Given the description of an element on the screen output the (x, y) to click on. 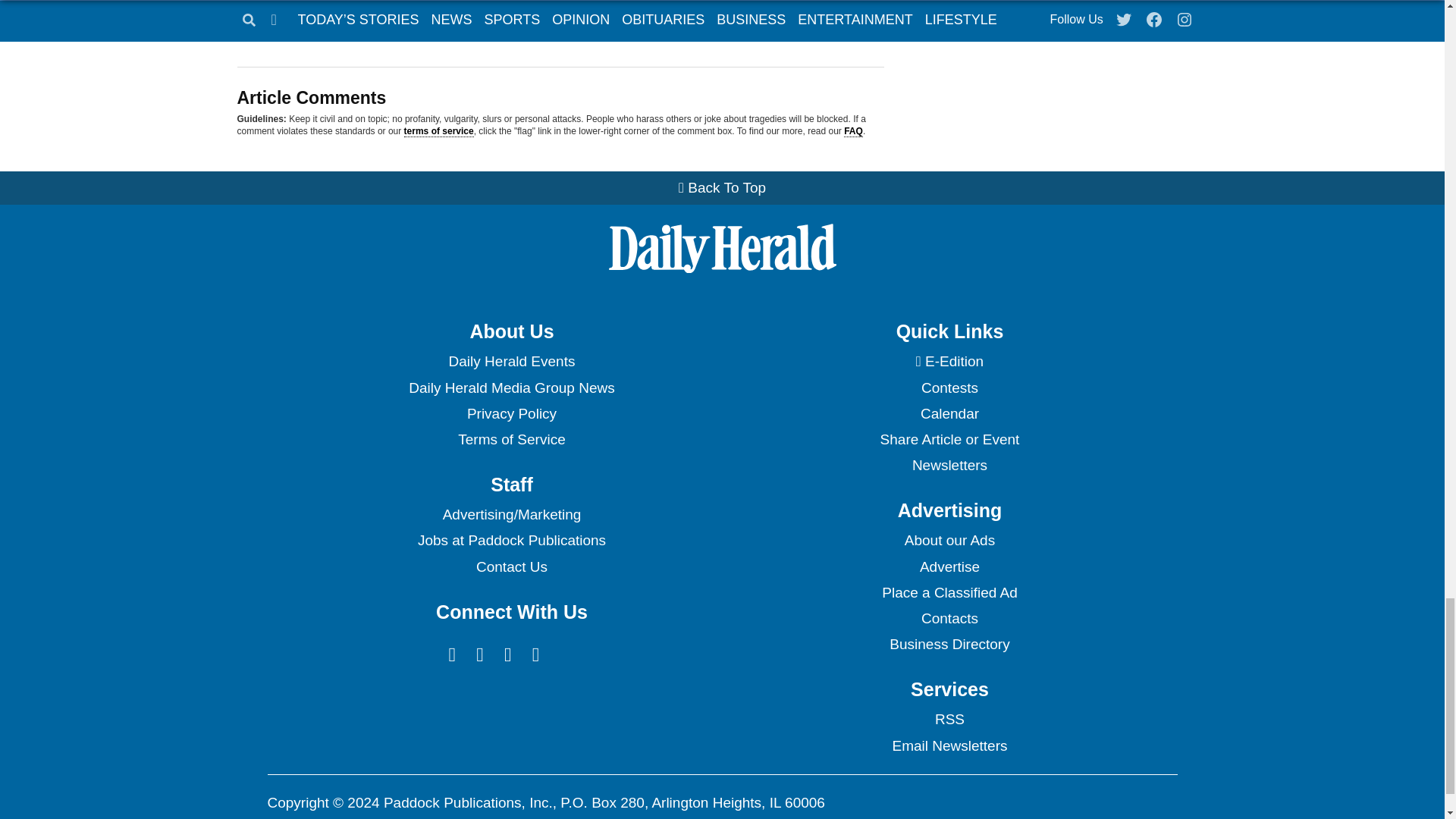
Daily Herald Events (511, 361)
Daily Herald Media Group News (511, 388)
Contact Us (511, 566)
Jobs at Paddock Publications (511, 540)
Terms of Service (511, 439)
Privacy Policy (511, 413)
Contests (949, 388)
Daily Herald Digital Newspaper (949, 361)
